Given the description of an element on the screen output the (x, y) to click on. 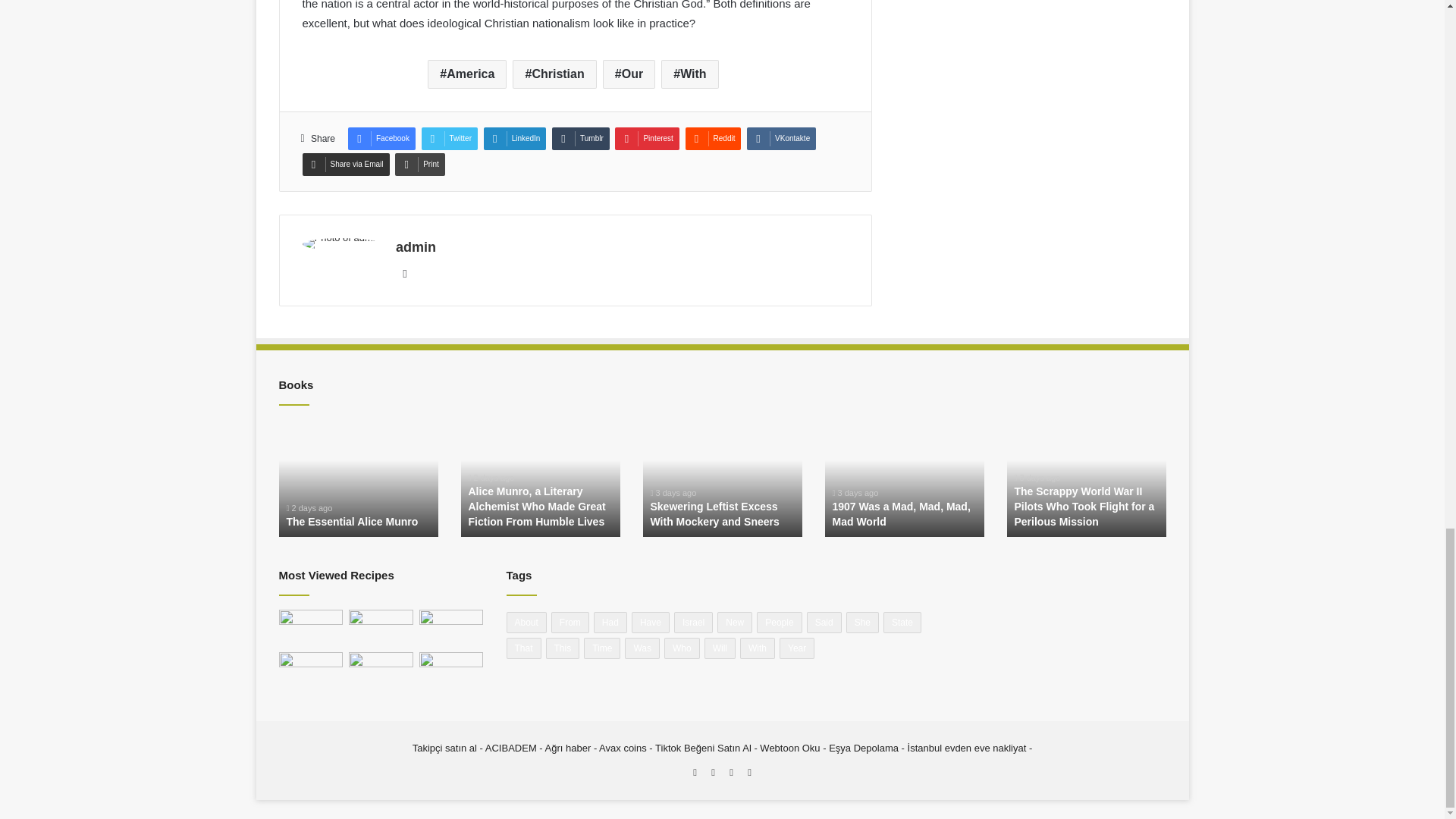
Tumblr (580, 138)
LinkedIn (515, 138)
VKontakte (780, 138)
America (467, 73)
With (689, 73)
Our (628, 73)
Facebook (380, 138)
LinkedIn (515, 138)
Christian (553, 73)
Pinterest (646, 138)
